Given the description of an element on the screen output the (x, y) to click on. 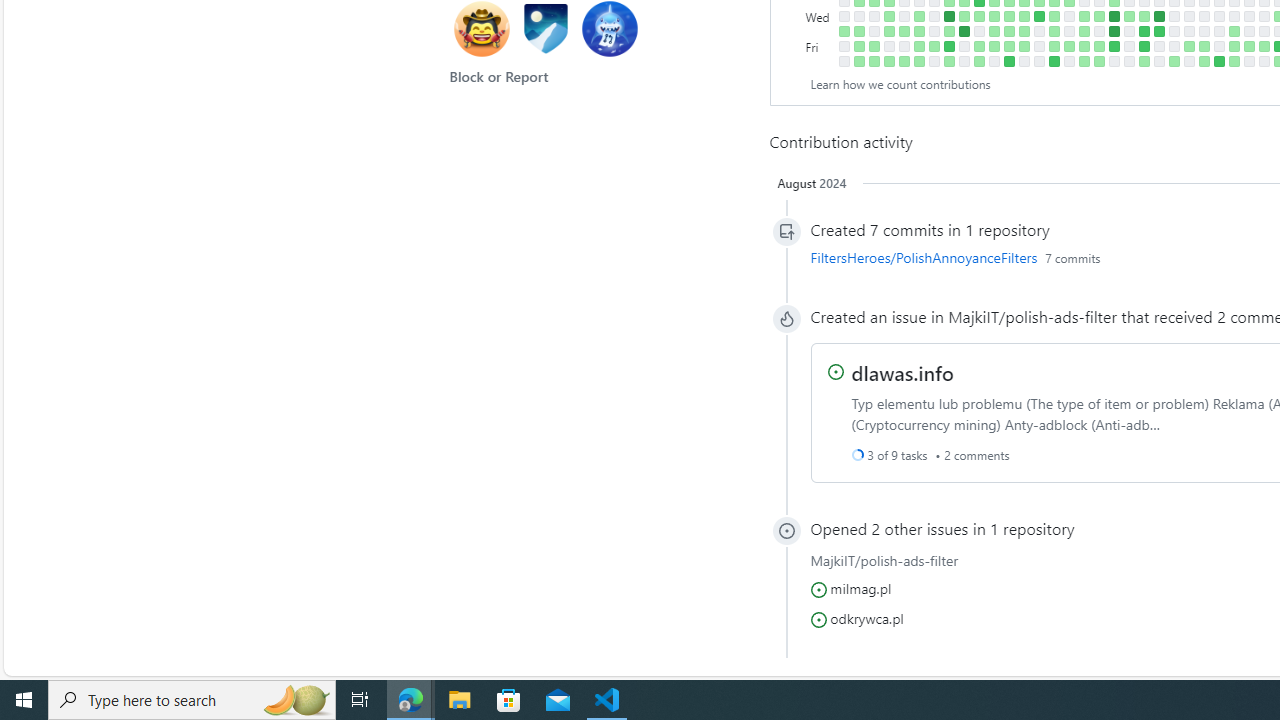
6 contributions on December 29th. (1114, 46)
No contributions on February 3rd. (1188, 61)
5 contributions on December 1st. (1053, 46)
13 contributions on January 17th. (1158, 16)
No contributions on August 23rd. (843, 16)
No contributions on December 7th. (1068, 30)
No contributions on October 20th. (963, 46)
3 contributions on March 1st. (1248, 46)
No contributions on January 5th. (1128, 46)
dlawas.info (902, 371)
No contributions on September 6th. (873, 16)
No contributions on November 23rd. (1038, 30)
1 contribution on September 27th. (918, 16)
4 contributions on October 14th. (948, 61)
1 contribution on February 9th. (1203, 46)
